Given the description of an element on the screen output the (x, y) to click on. 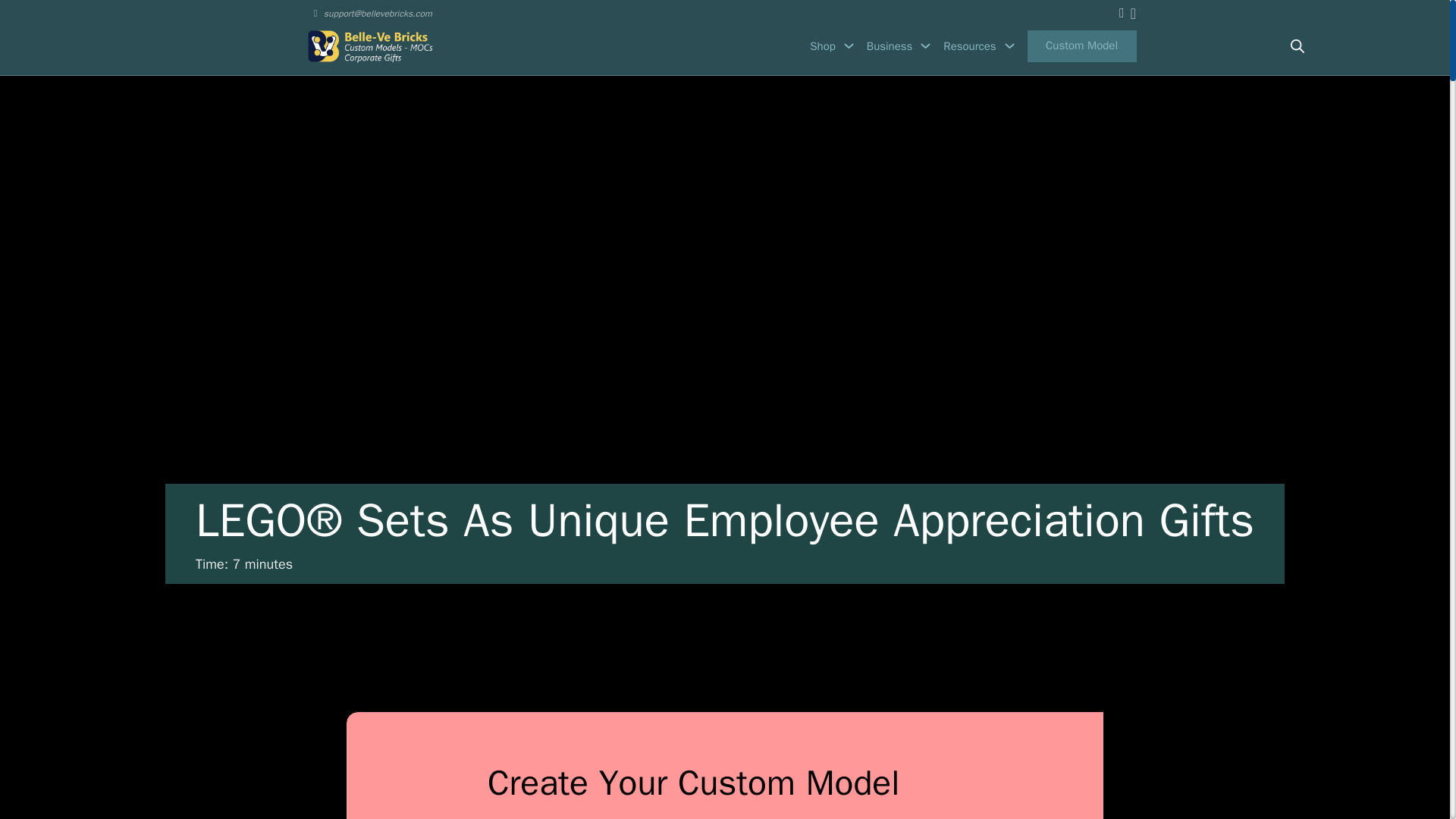
Resources (969, 46)
Shop (822, 46)
Business (889, 46)
Custom Model (1082, 46)
